Given the description of an element on the screen output the (x, y) to click on. 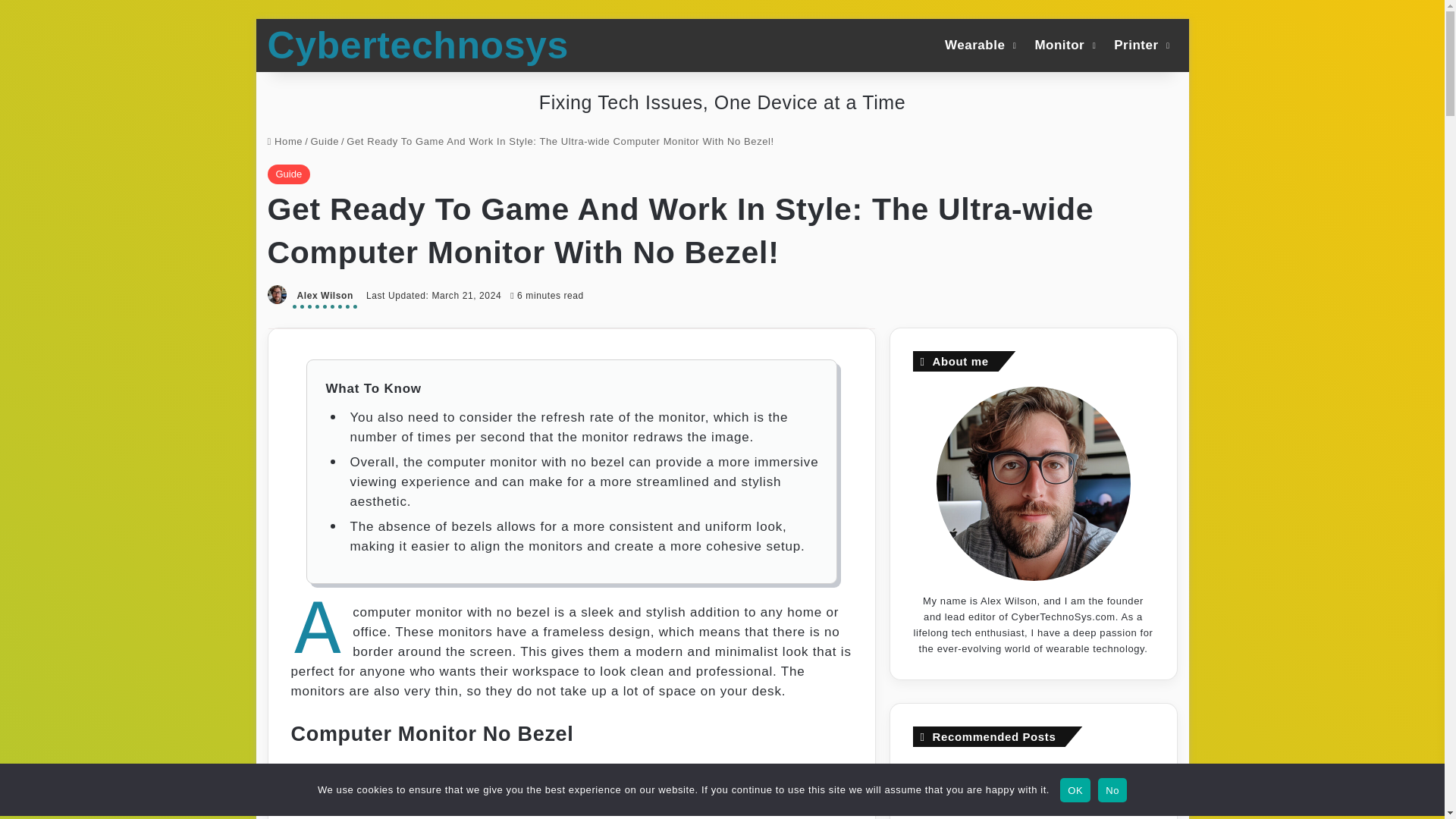
Guide (324, 141)
Wearable (978, 44)
Home (284, 141)
Cybertechnosys (416, 45)
Alex Wilson (324, 297)
Cybertechnosys (416, 45)
Guide (288, 174)
Monitor (1063, 44)
Alex Wilson (324, 297)
Printer (1139, 44)
